Given the description of an element on the screen output the (x, y) to click on. 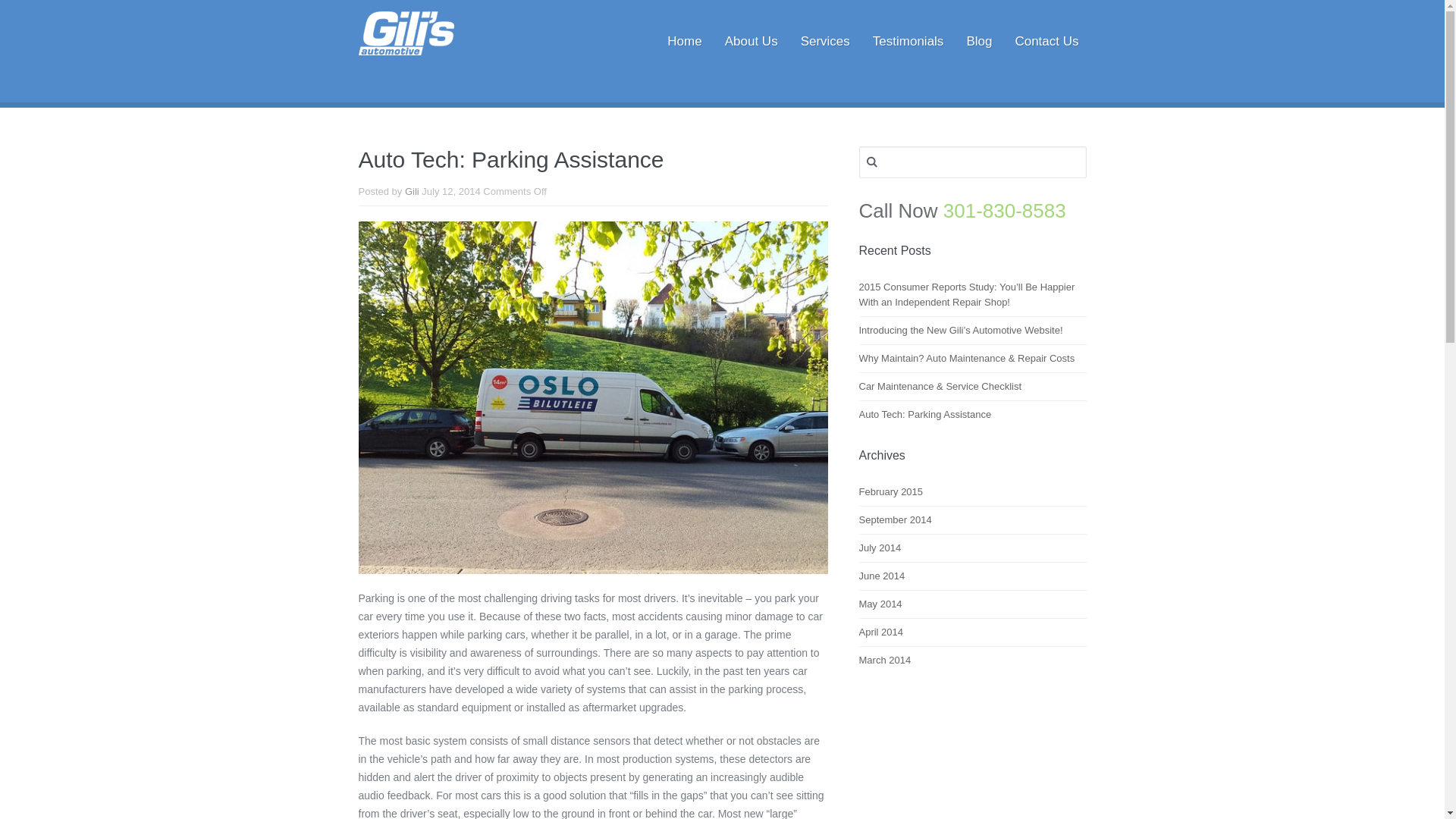
Auto Tech: Parking Assistance (925, 414)
September 2014 (895, 520)
Gili (411, 191)
Blog (978, 41)
Home (684, 41)
July 2014 (880, 548)
Testimonials (908, 41)
Contact Us (1046, 41)
Search (29, 17)
April 2014 (880, 632)
